Given the description of an element on the screen output the (x, y) to click on. 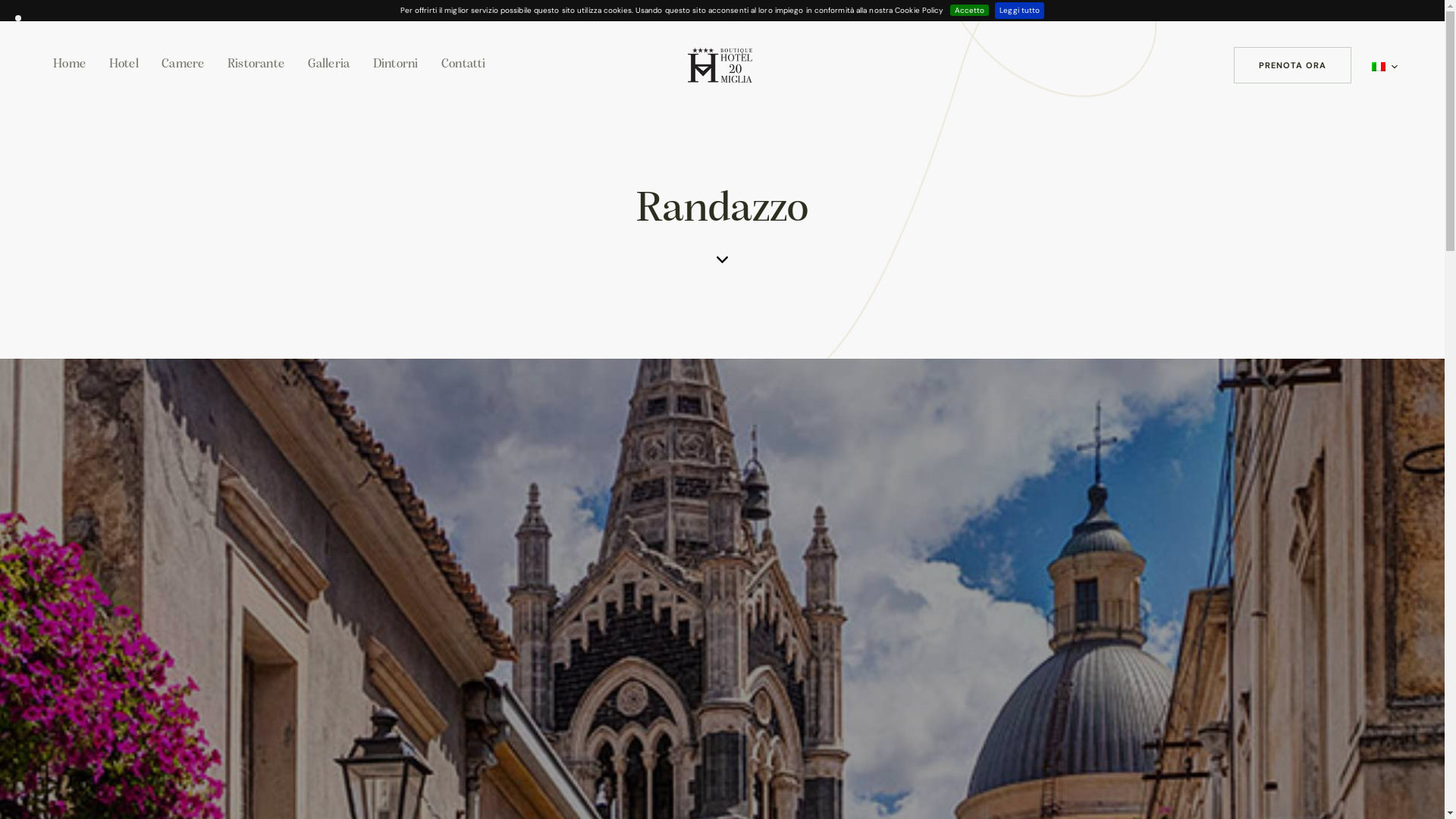
PRENOTA ORA Element type: text (1292, 65)
Galleria Element type: text (327, 64)
Leggi tutto Element type: text (1019, 10)
Italiano Element type: hover (1378, 66)
Home Element type: text (69, 64)
Accetto Element type: text (968, 9)
Contatti Element type: text (463, 64)
Camere Element type: text (183, 64)
Ristorante Element type: text (256, 64)
Dintorni Element type: text (395, 64)
Hotel Element type: text (123, 64)
